Given the description of an element on the screen output the (x, y) to click on. 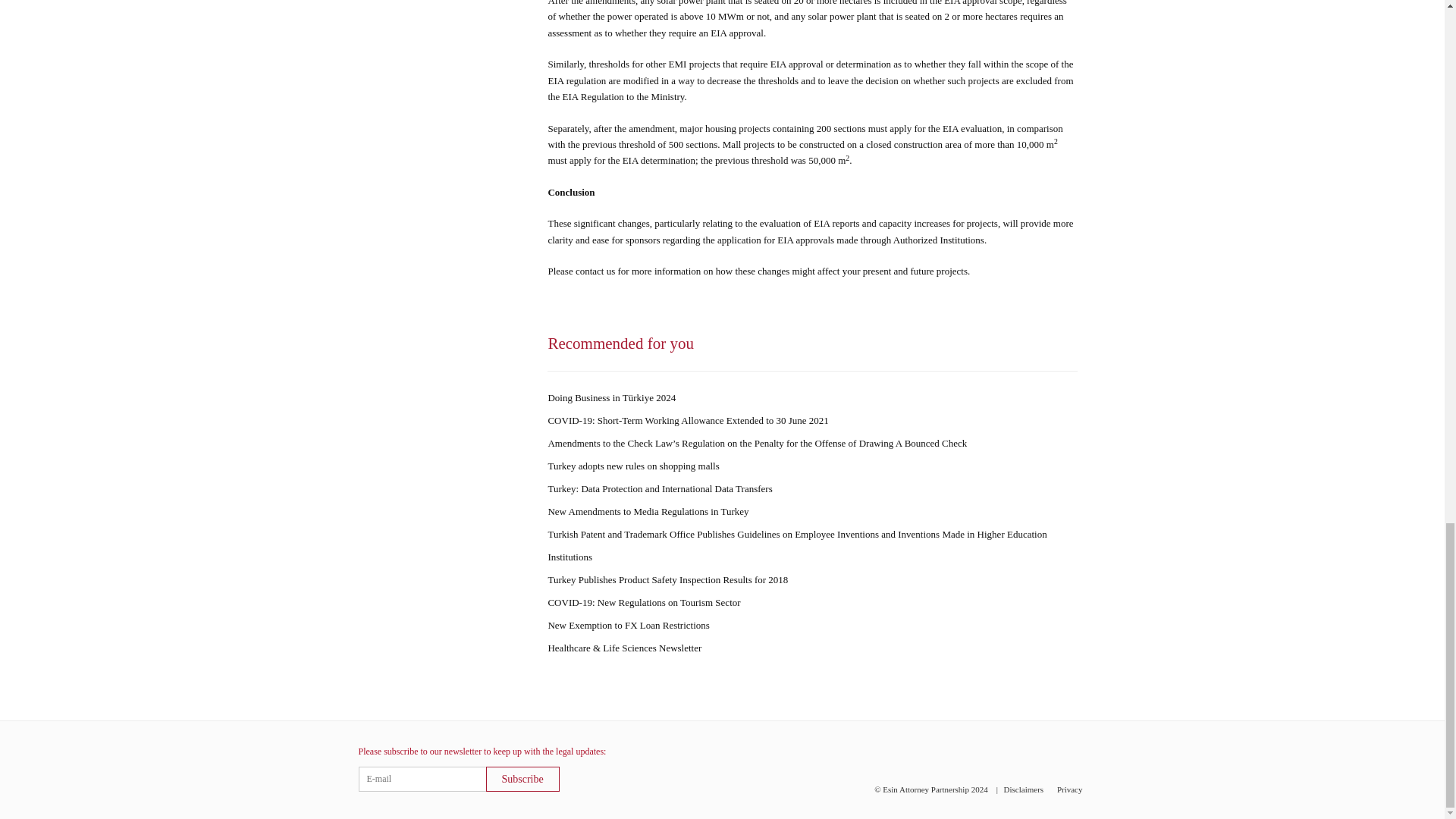
Privacy (1070, 788)
Turkey adopts new rules on shopping malls (633, 465)
New Exemption to FX Loan Restrictions (628, 624)
Disclaimers (1023, 788)
COVID-19: New Regulations on Tourism Sector (643, 602)
Subscribe (521, 778)
Turkey: Data Protection and International Data Transfers (659, 488)
Turkey Publishes Product Safety Inspection Results for 2018 (667, 579)
New Amendments to Media Regulations in Turkey (647, 511)
